Given the description of an element on the screen output the (x, y) to click on. 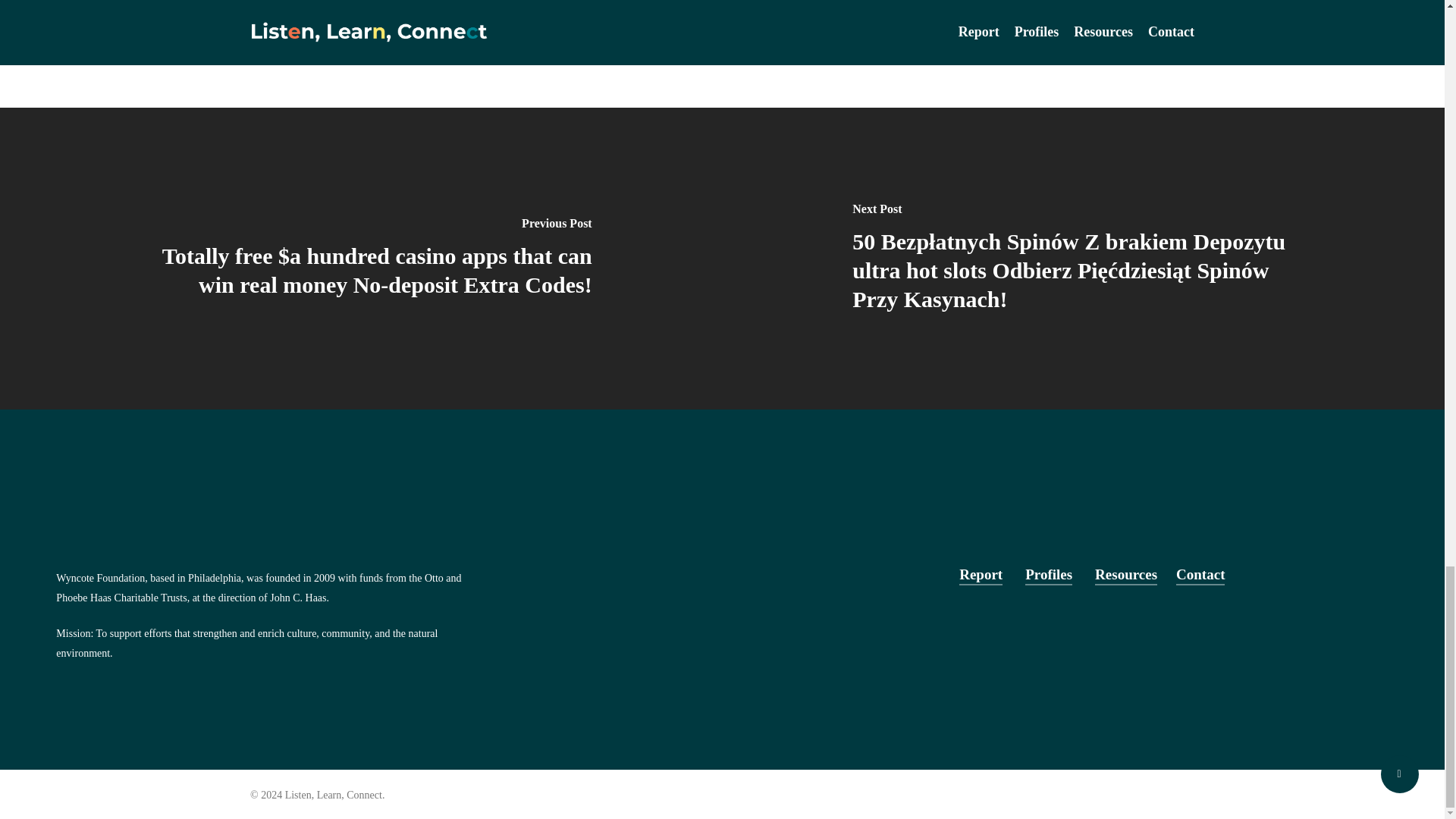
Report (981, 574)
wyncote (468, 5)
Resources (1125, 574)
Contact (1200, 574)
Profiles (1048, 574)
